Given the description of an element on the screen output the (x, y) to click on. 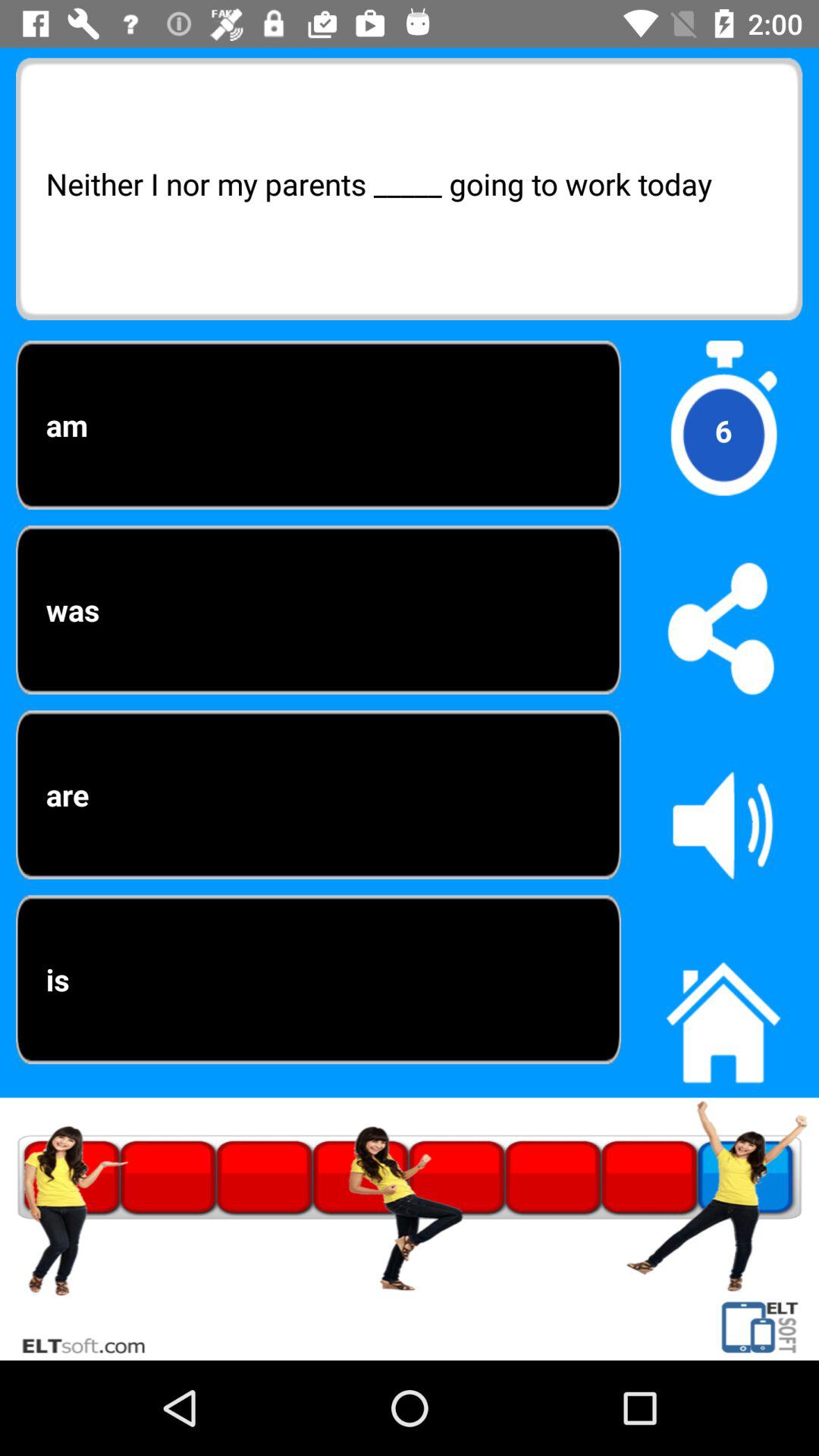
jump until the 6 (723, 430)
